Given the description of an element on the screen output the (x, y) to click on. 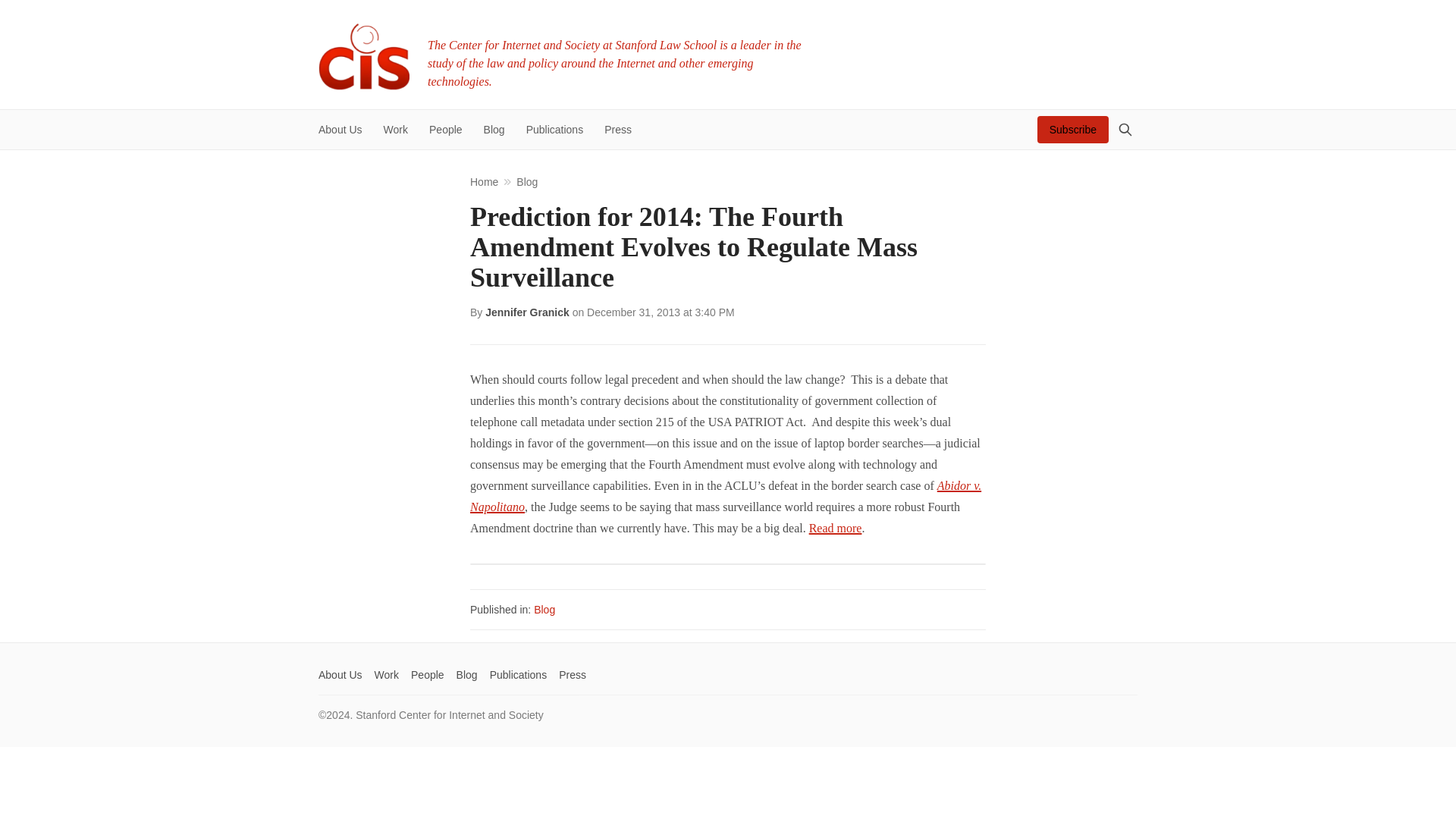
Blog (467, 674)
Read more (835, 527)
About Us (340, 674)
Blog (526, 181)
Publications (518, 674)
Home (483, 182)
About Us (344, 129)
Subscribe (1072, 129)
Work (395, 129)
Blog (544, 609)
